Given the description of an element on the screen output the (x, y) to click on. 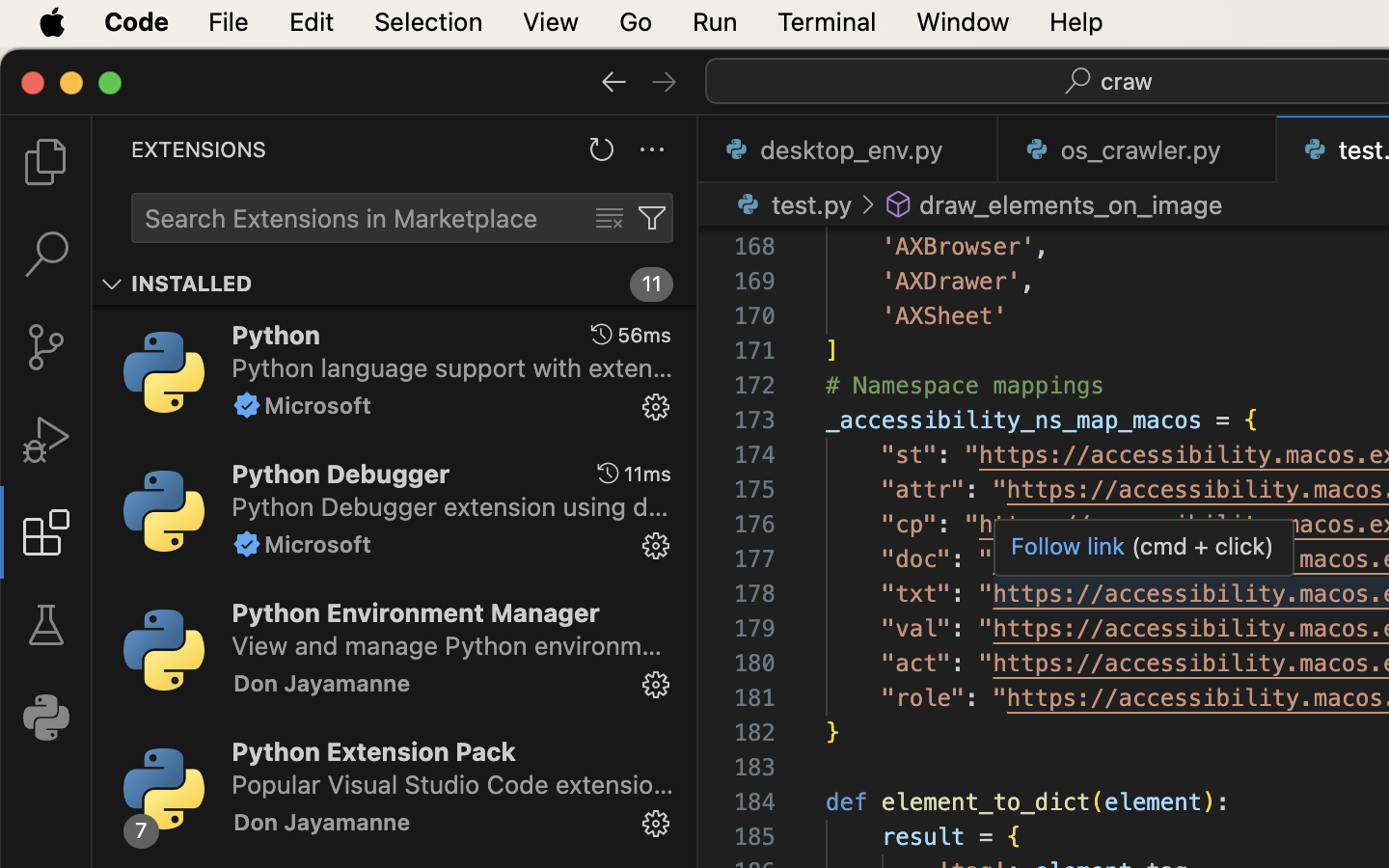
11 Element type: AXStaticText (651, 284)
 Element type: AXGroup (46, 254)
Don Jayamanne Element type: AXStaticText (321, 682)
test.py  Element type: AXGroup (790, 204)
Python Element type: AXStaticText (275, 334)
